Given the description of an element on the screen output the (x, y) to click on. 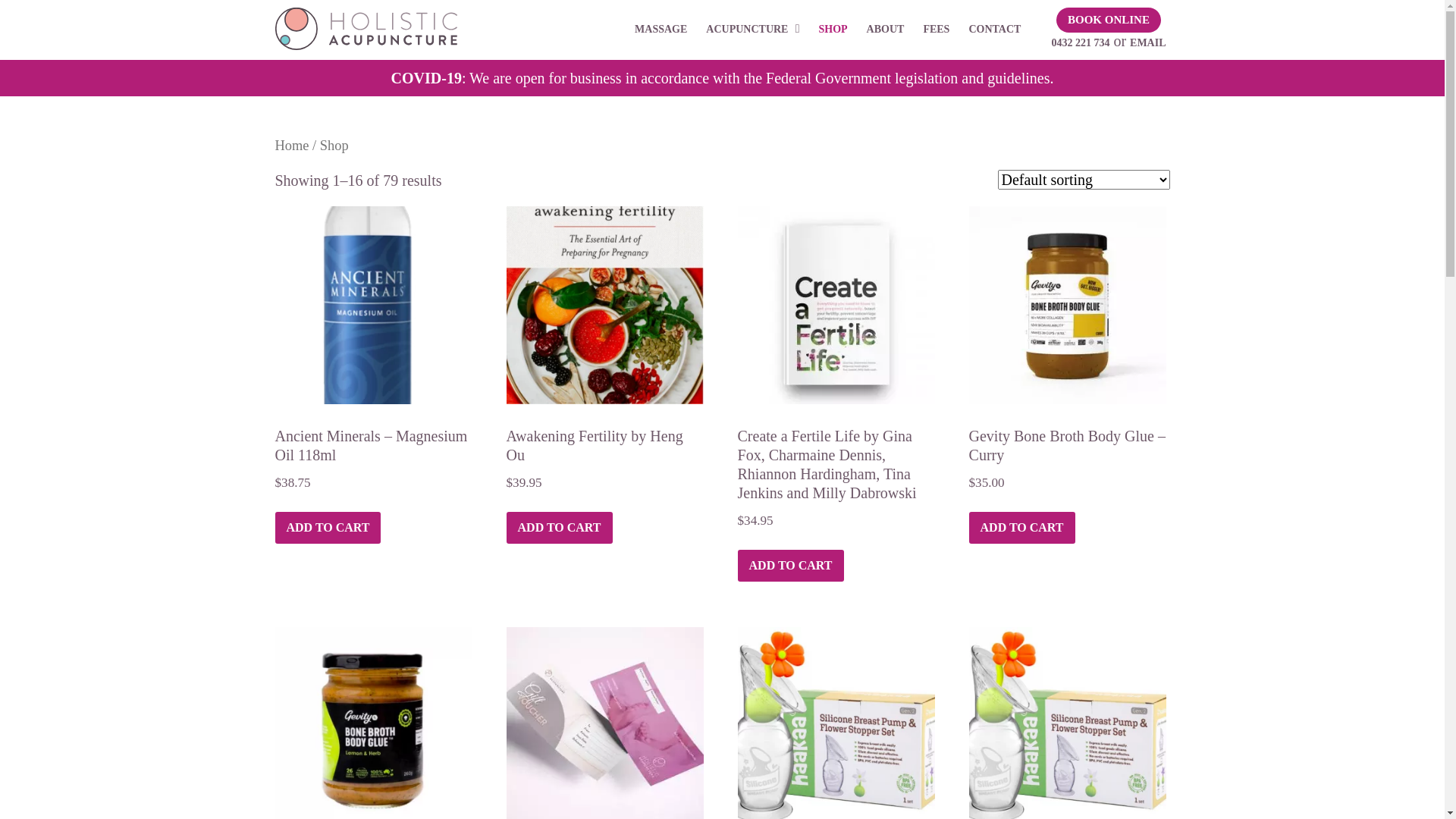
Awakening Fertility by Heng Ou
$39.95 Element type: text (604, 370)
FEES Element type: text (936, 29)
MASSAGE Element type: text (660, 29)
BOOK ONLINE Element type: text (1108, 19)
SHOP Element type: text (832, 29)
EMAIL Element type: text (1147, 42)
Home Element type: text (291, 145)
CONTACT Element type: text (994, 29)
ADD TO CART Element type: text (790, 565)
0432 221 734 Element type: text (1080, 42)
ADD TO CART Element type: text (559, 527)
ACUPUNCTURE Element type: text (752, 29)
ADD TO CART Element type: text (1022, 527)
ADD TO CART Element type: text (327, 527)
ABOUT Element type: text (885, 29)
